Given the description of an element on the screen output the (x, y) to click on. 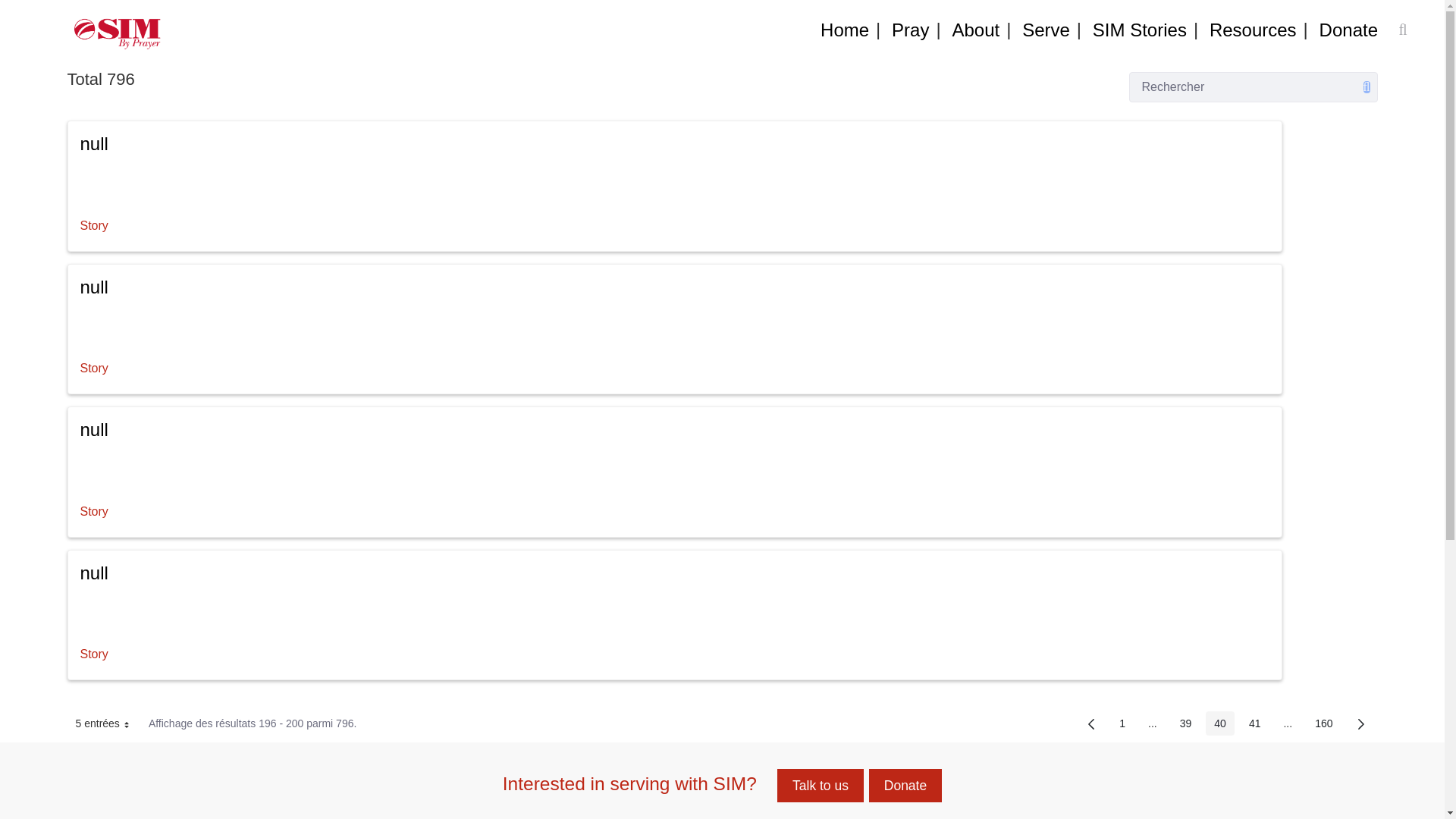
Resources (1252, 30)
About (975, 30)
Pray (910, 30)
Prochaine Page (1361, 723)
Saut au contenu (38, 11)
Serve (1045, 30)
SIM Stories (1139, 30)
Home (844, 30)
